Given the description of an element on the screen output the (x, y) to click on. 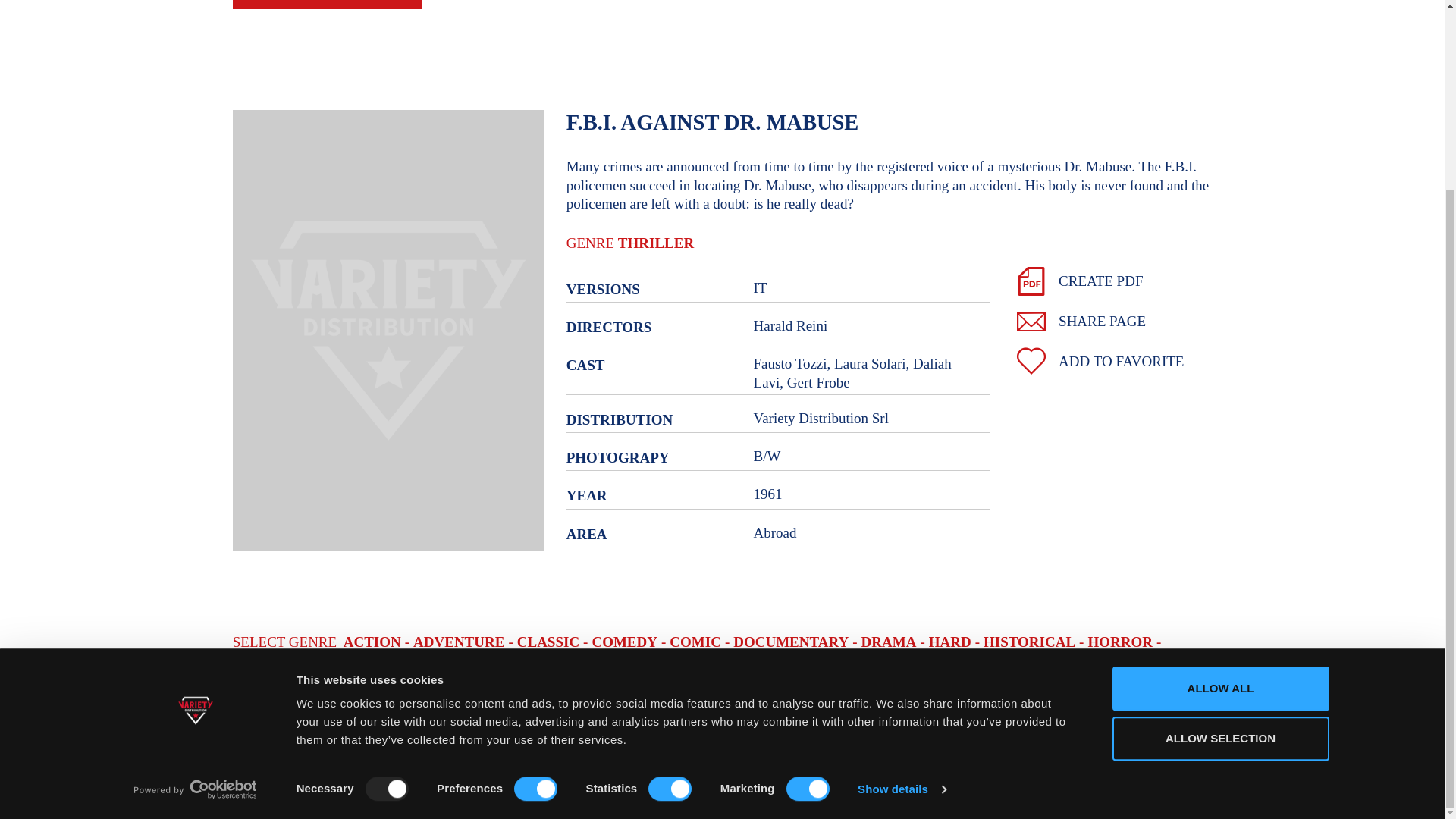
Show details (900, 553)
ALLOW SELECTION (1219, 502)
ALLOW ALL (1219, 452)
